Given the description of an element on the screen output the (x, y) to click on. 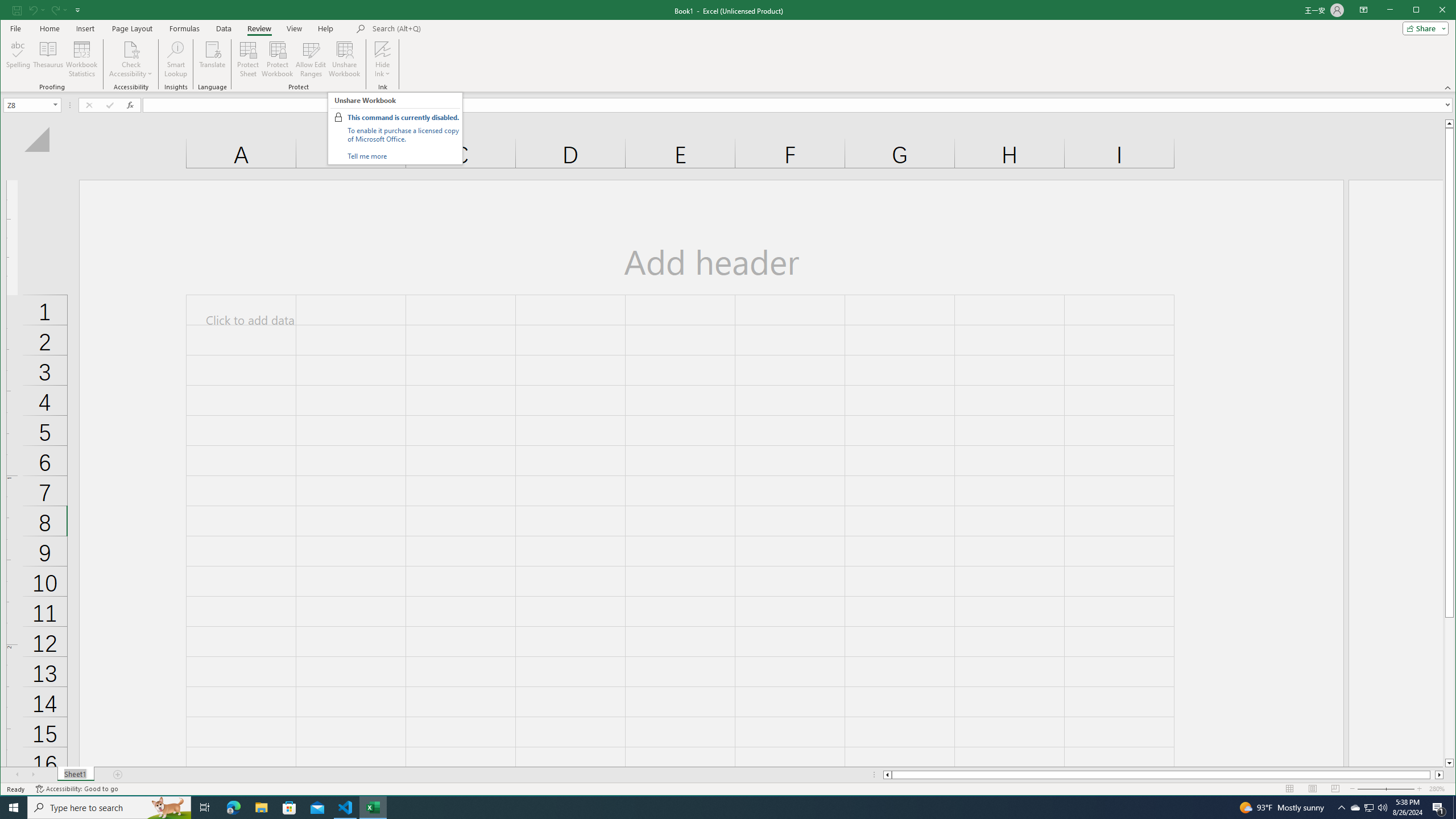
Workbook Statistics (82, 59)
Thesaurus... (48, 59)
Notification Chevron (1341, 807)
Show desktop (1454, 807)
Spelling... (18, 59)
User Promoted Notification Area (1368, 807)
